Given the description of an element on the screen output the (x, y) to click on. 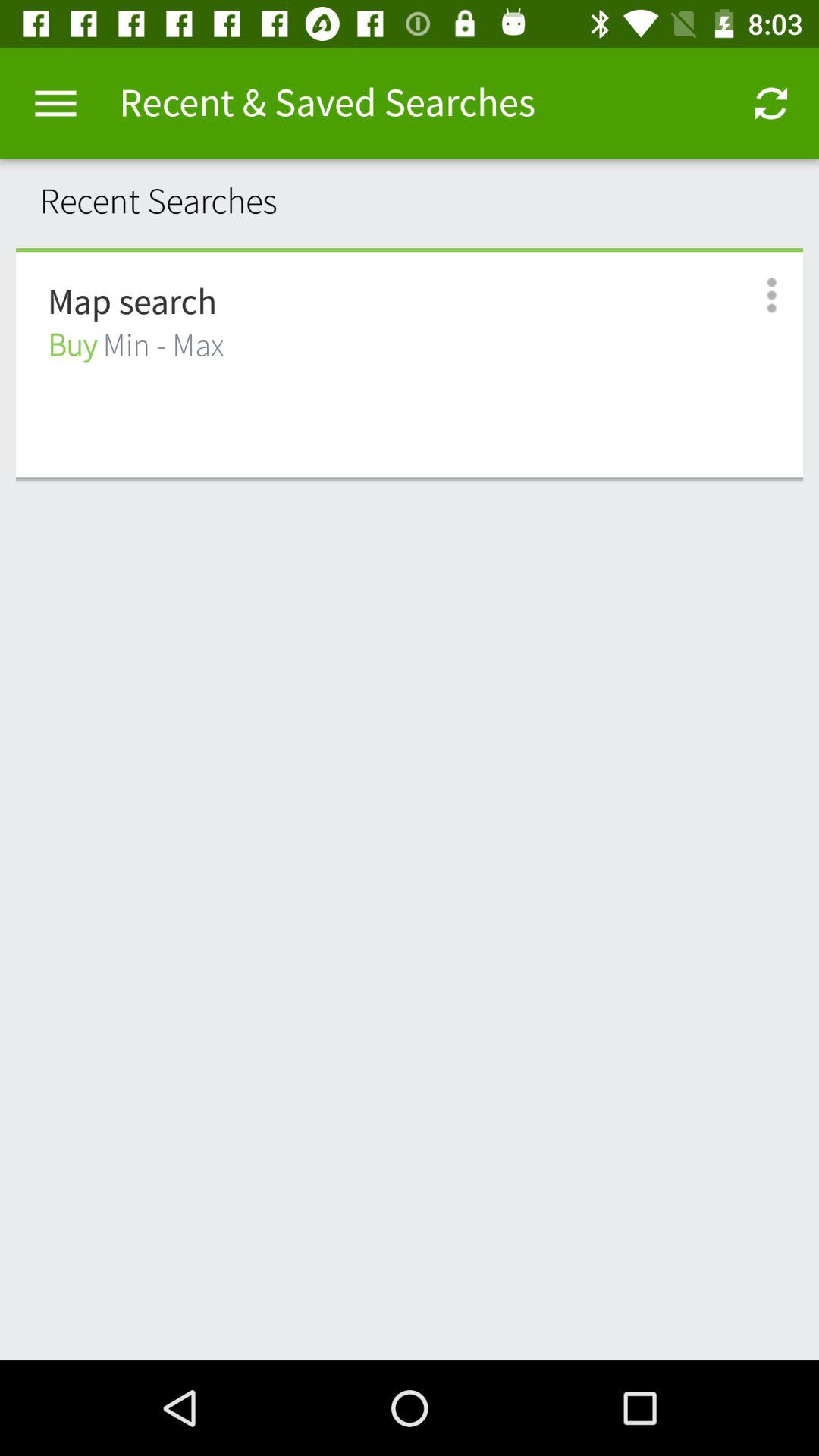
open the item below the recent searches item (409, 249)
